Given the description of an element on the screen output the (x, y) to click on. 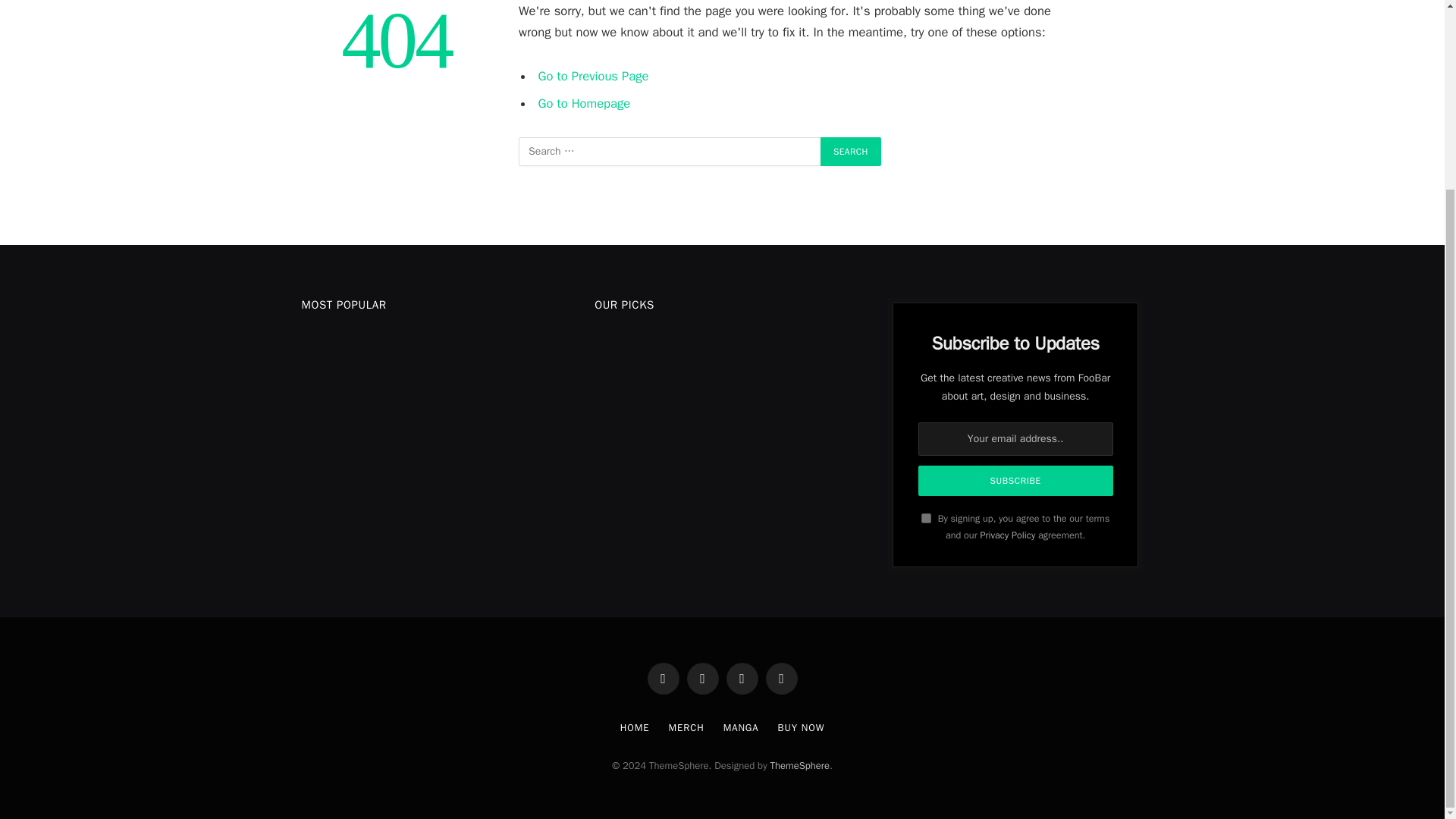
Instagram (742, 678)
Search (850, 151)
on (926, 518)
Go to Homepage (584, 103)
Search (850, 151)
Subscribe (1015, 481)
Subscribe (1015, 481)
Search (850, 151)
Facebook (663, 678)
HOME (634, 727)
Go to Previous Page (593, 75)
Pinterest (781, 678)
MERCH (685, 727)
Privacy Policy (1007, 535)
